Given the description of an element on the screen output the (x, y) to click on. 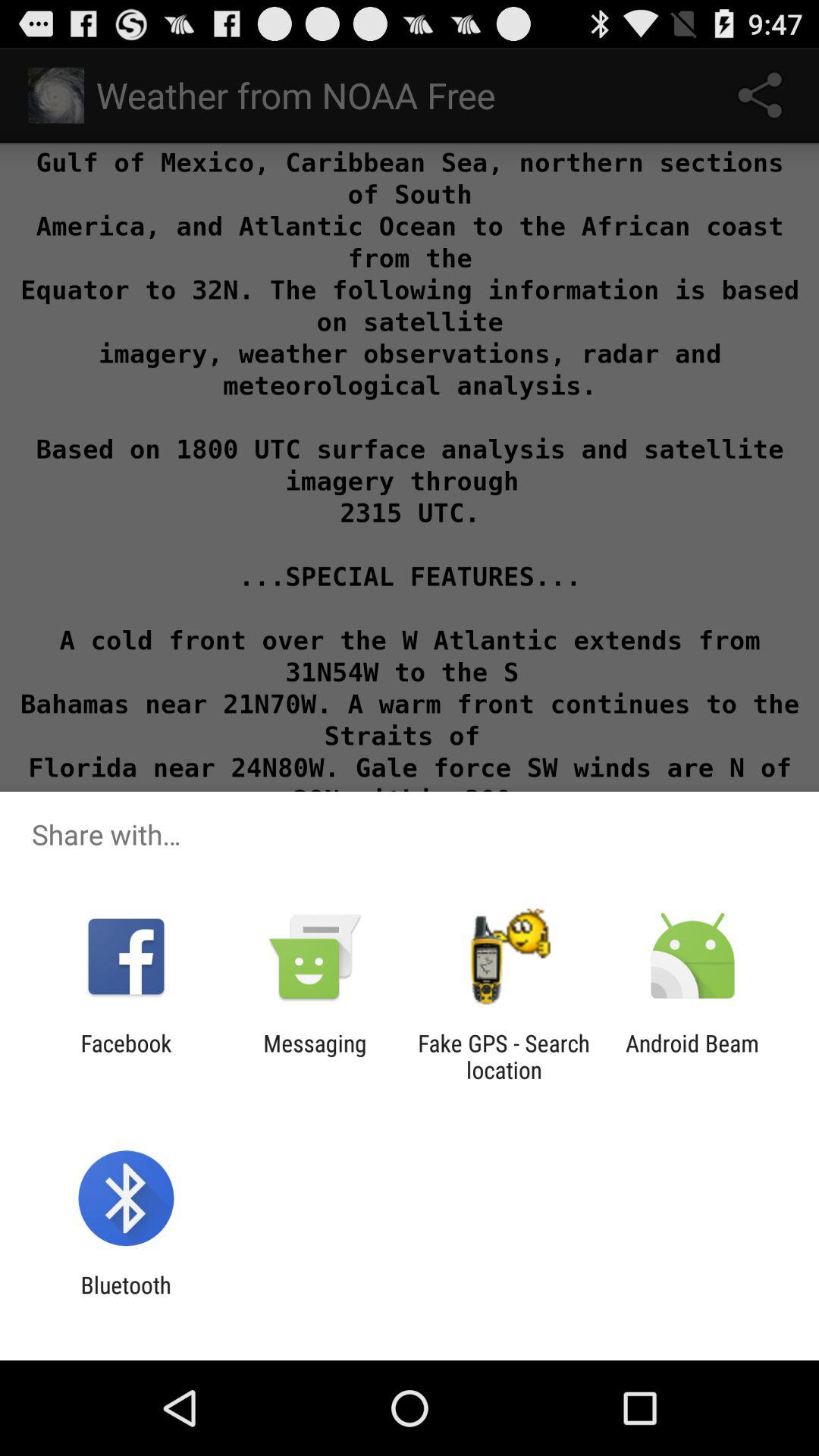
turn off fake gps search item (503, 1056)
